Given the description of an element on the screen output the (x, y) to click on. 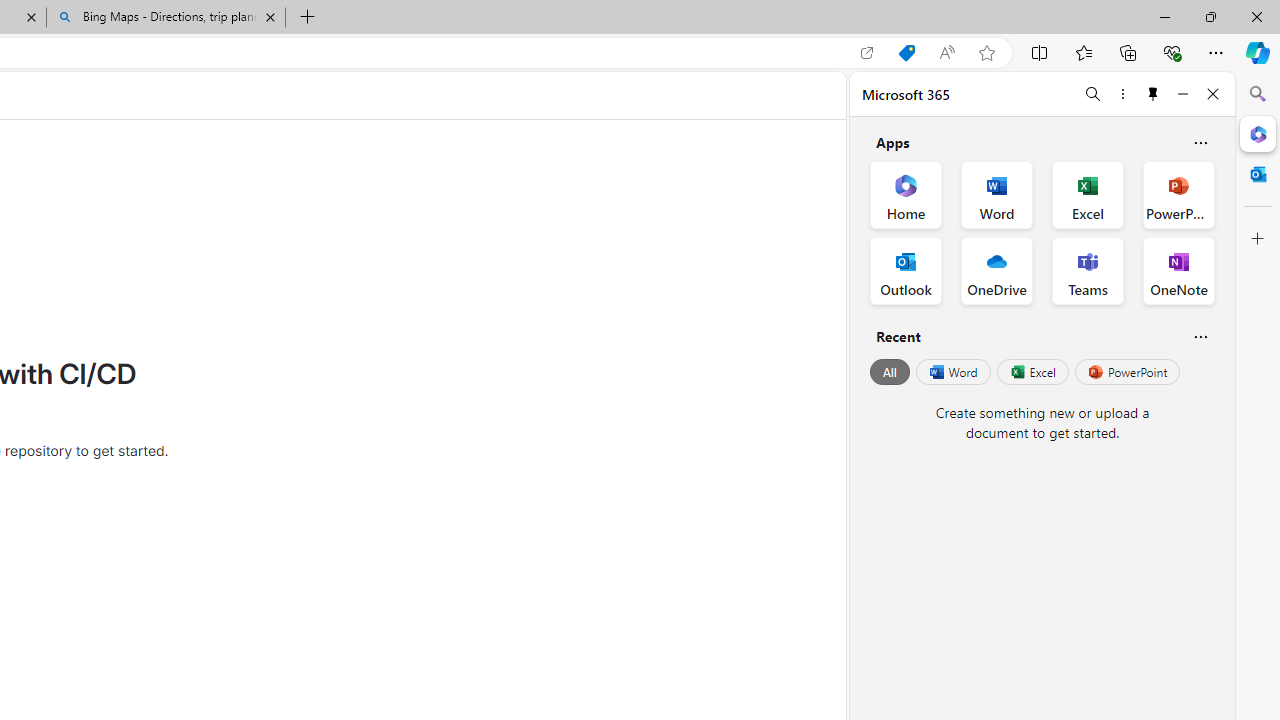
PowerPoint Office App (1178, 194)
Home Office App (906, 194)
Open in app (867, 53)
OneDrive Office App (996, 270)
Teams Office App (1087, 270)
Is this helpful? (1200, 336)
